Given the description of an element on the screen output the (x, y) to click on. 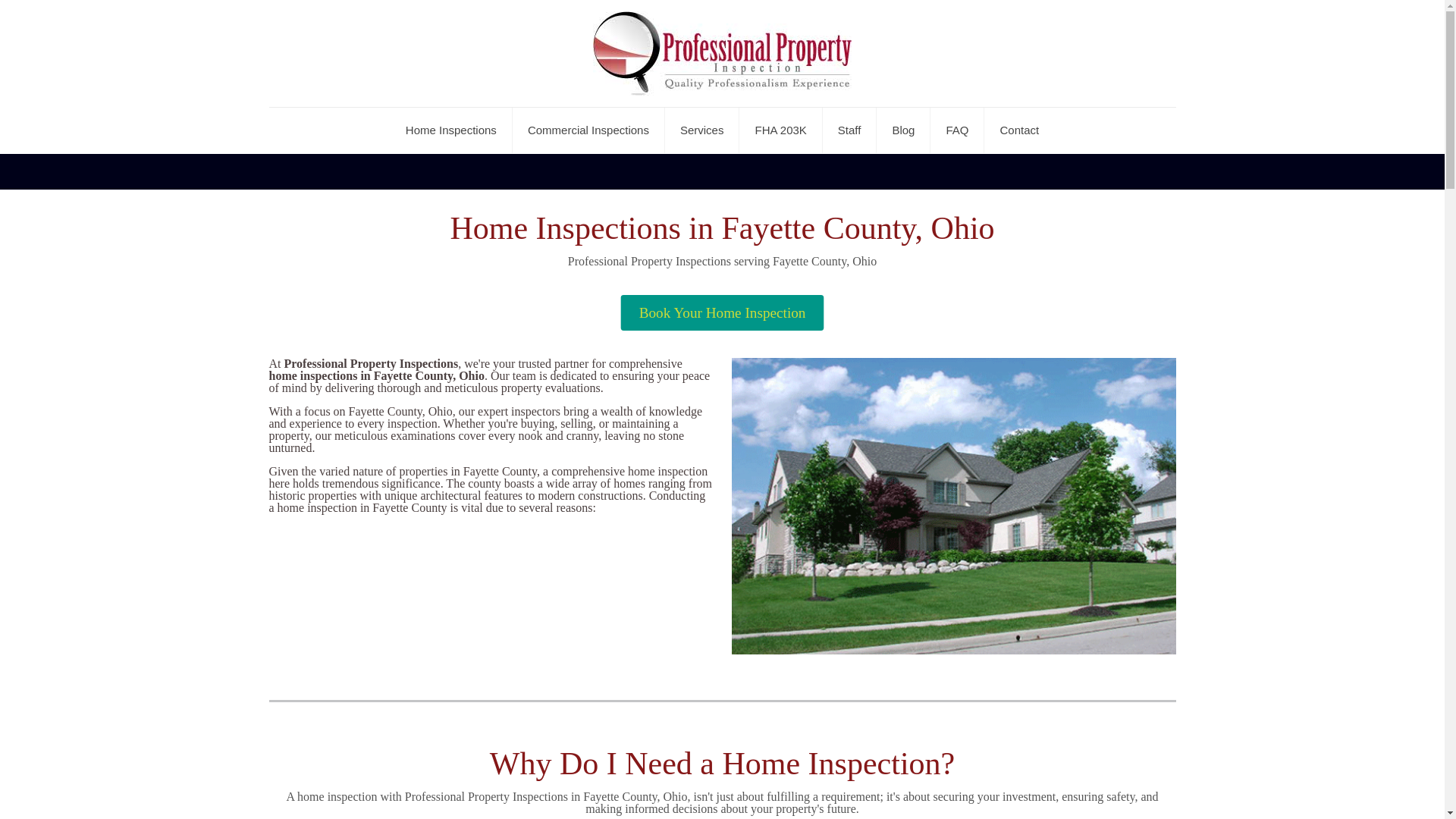
Book Your Home Inspection (705, 309)
Professional Property Inspections (721, 53)
Home Inspections (451, 130)
FHA 203K (780, 130)
Contact (1019, 130)
Staff (849, 130)
Services (702, 130)
Blog (903, 130)
Commercial Inspections (588, 130)
FAQ (957, 130)
